Given the description of an element on the screen output the (x, y) to click on. 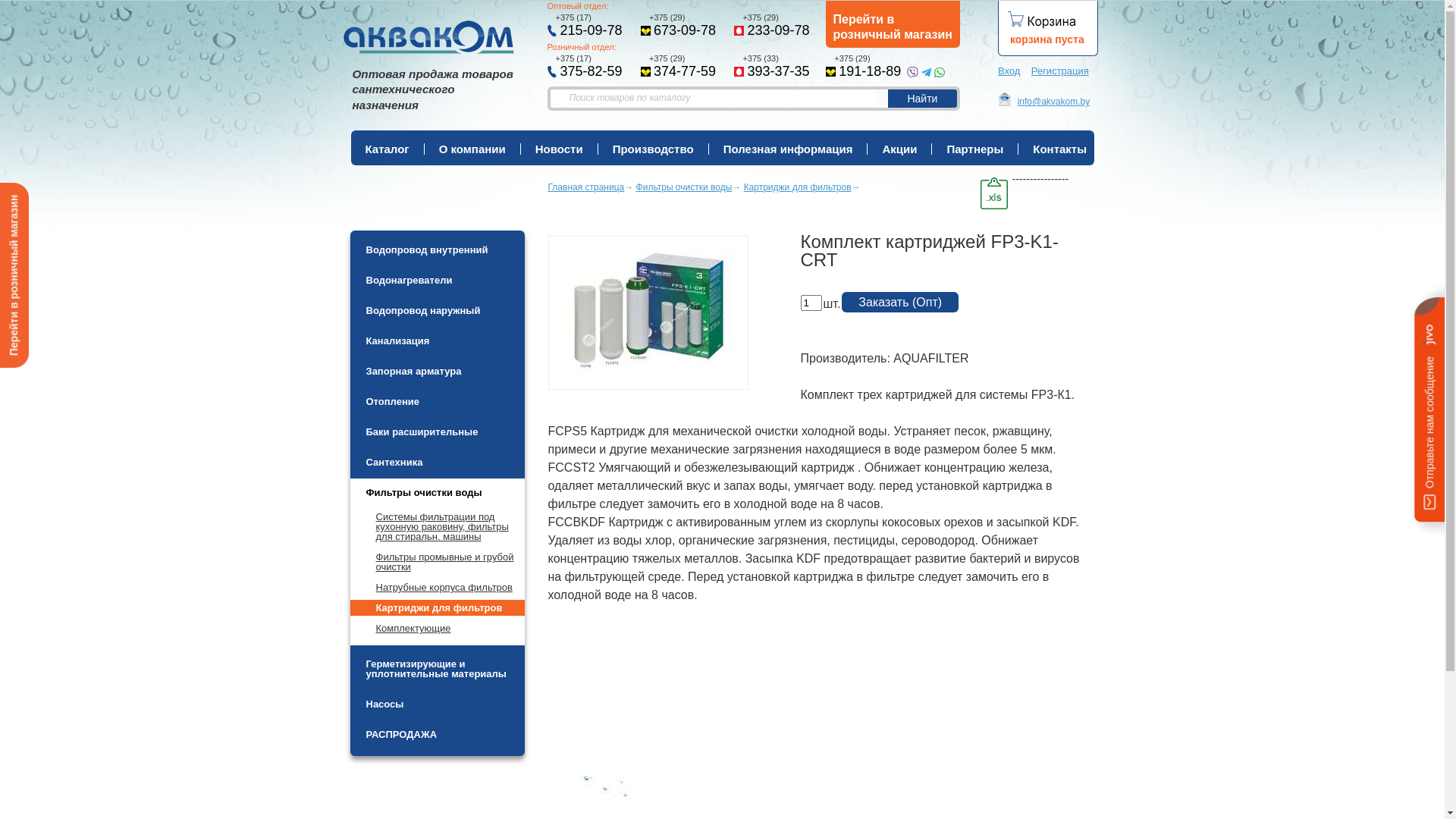
+375 (17)
375-82-59 Element type: text (587, 66)
+375 (29)
374-77-59 Element type: text (680, 66)
+375 (29)
673-09-78 Element type: text (680, 25)
+375 (17)
215-09-78 Element type: text (587, 25)
info@akvakom.by Element type: text (1043, 101)
+375 (29)
191-18-89 Element type: text (862, 66)
+375 (33)
393-37-35 Element type: text (773, 66)
+375 (29)
233-09-78 Element type: text (773, 25)
